Given the description of an element on the screen output the (x, y) to click on. 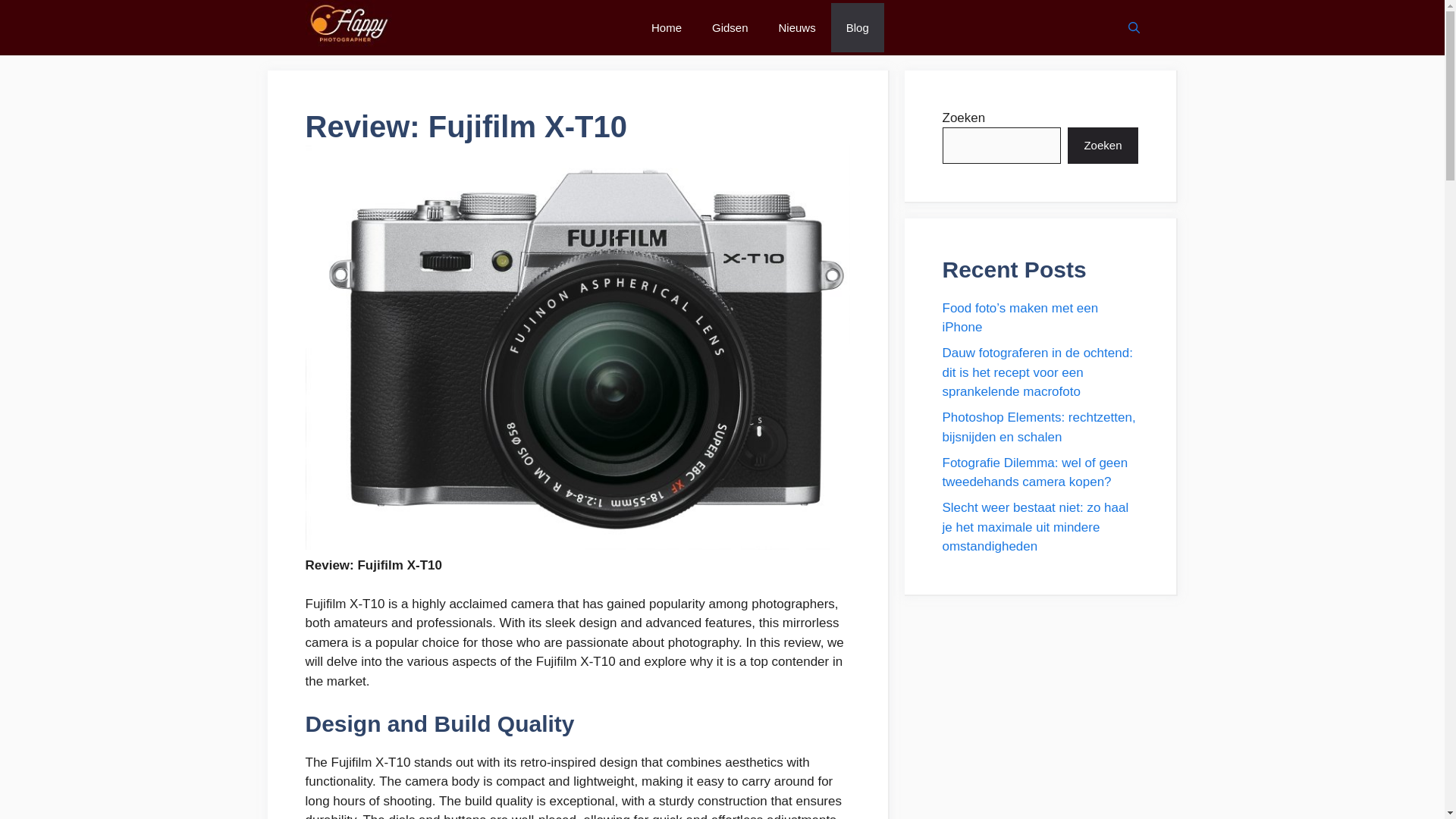
Nieuws (796, 27)
Zoeken (1102, 145)
Photoshop Elements: rechtzetten, bijsnijden en schalen (1038, 427)
Home (666, 27)
Fotografie Dilemma: wel of geen tweedehands camera kopen? (1034, 471)
happyphotographer (347, 24)
Gidsen (729, 27)
happyphotographer (347, 27)
Blog (857, 27)
